Given the description of an element on the screen output the (x, y) to click on. 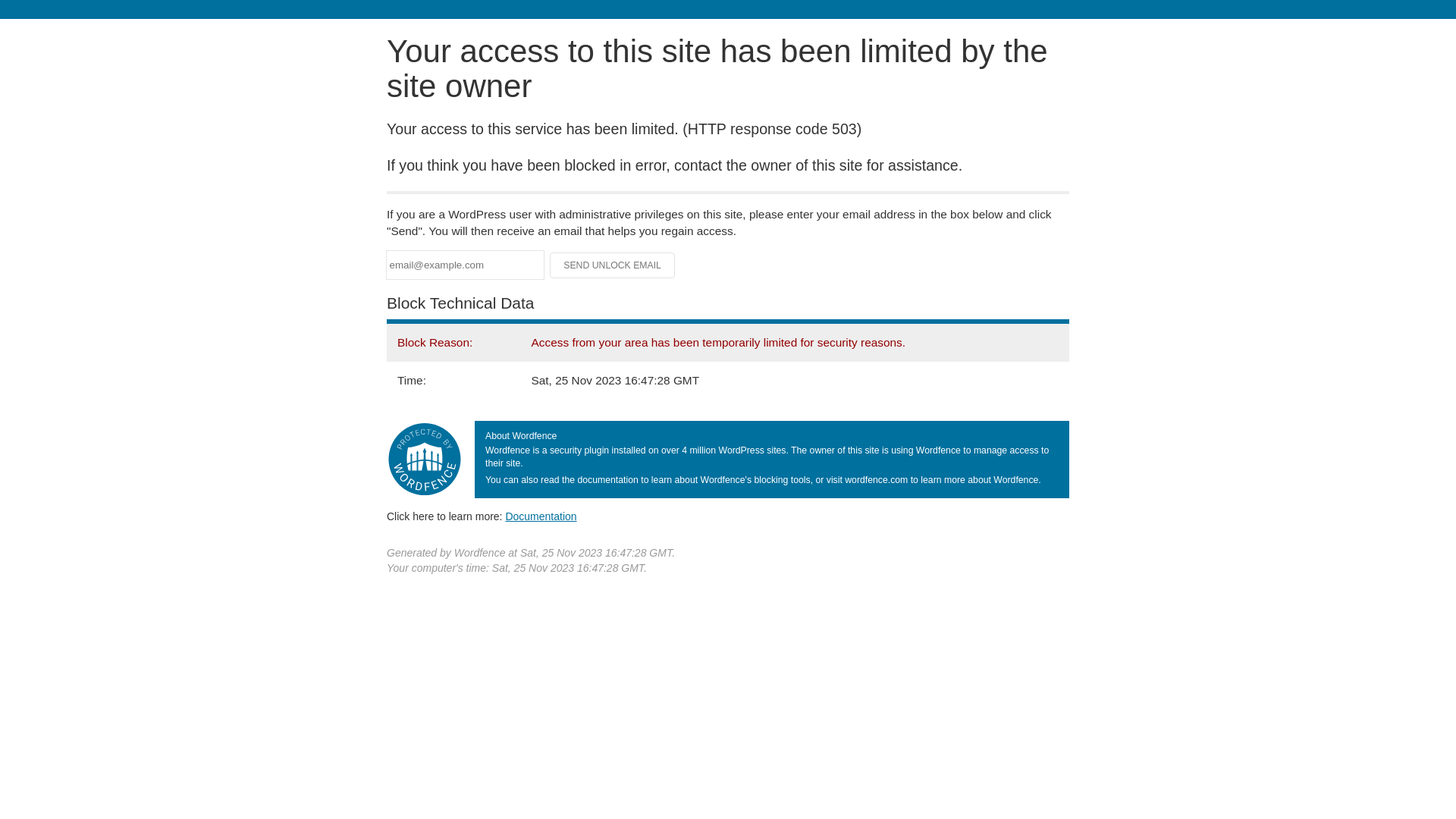
Send Unlock Email Element type: text (612, 265)
Documentation Element type: text (540, 516)
